Given the description of an element on the screen output the (x, y) to click on. 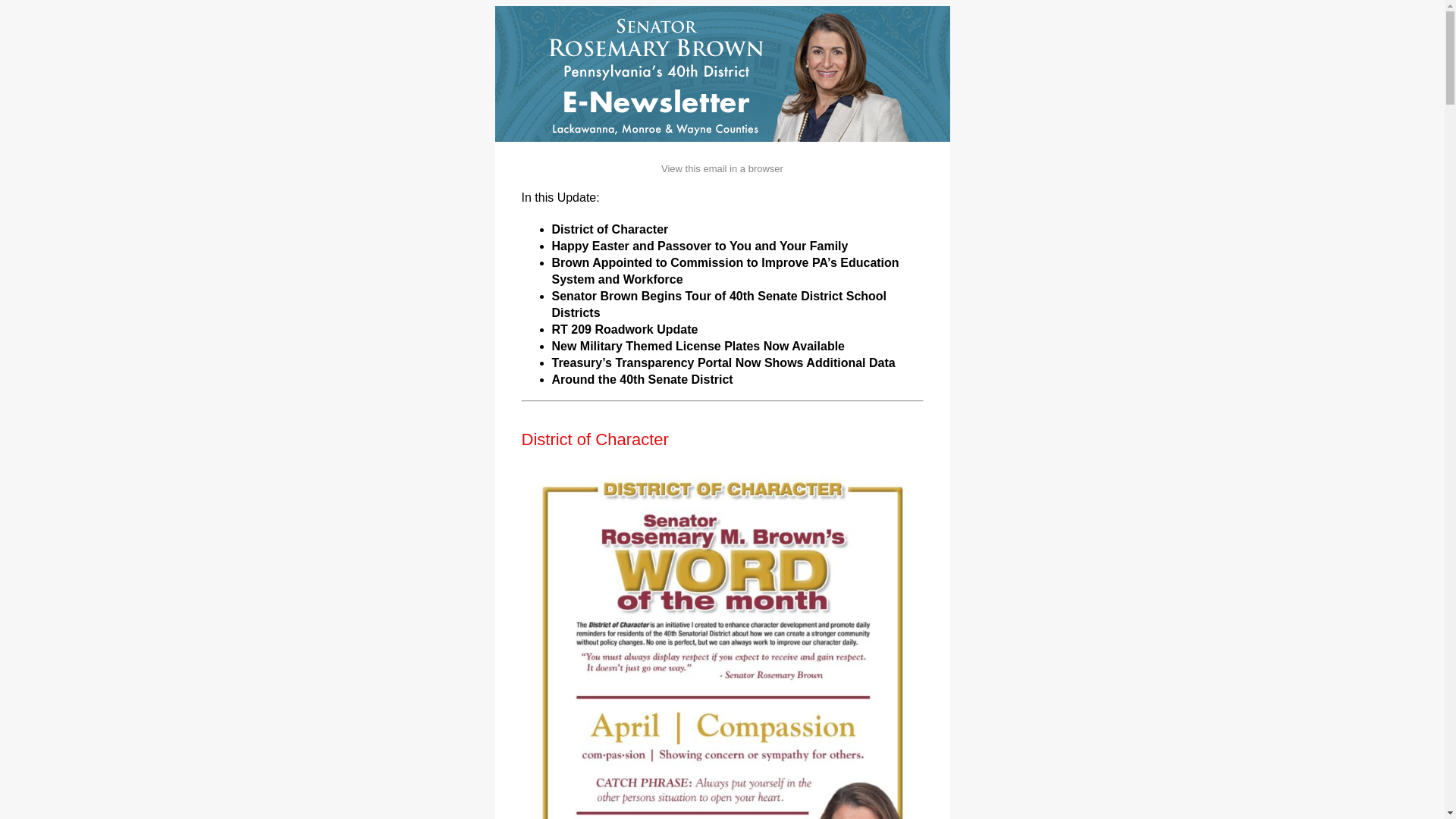
View this email in a browser (722, 168)
